Given the description of an element on the screen output the (x, y) to click on. 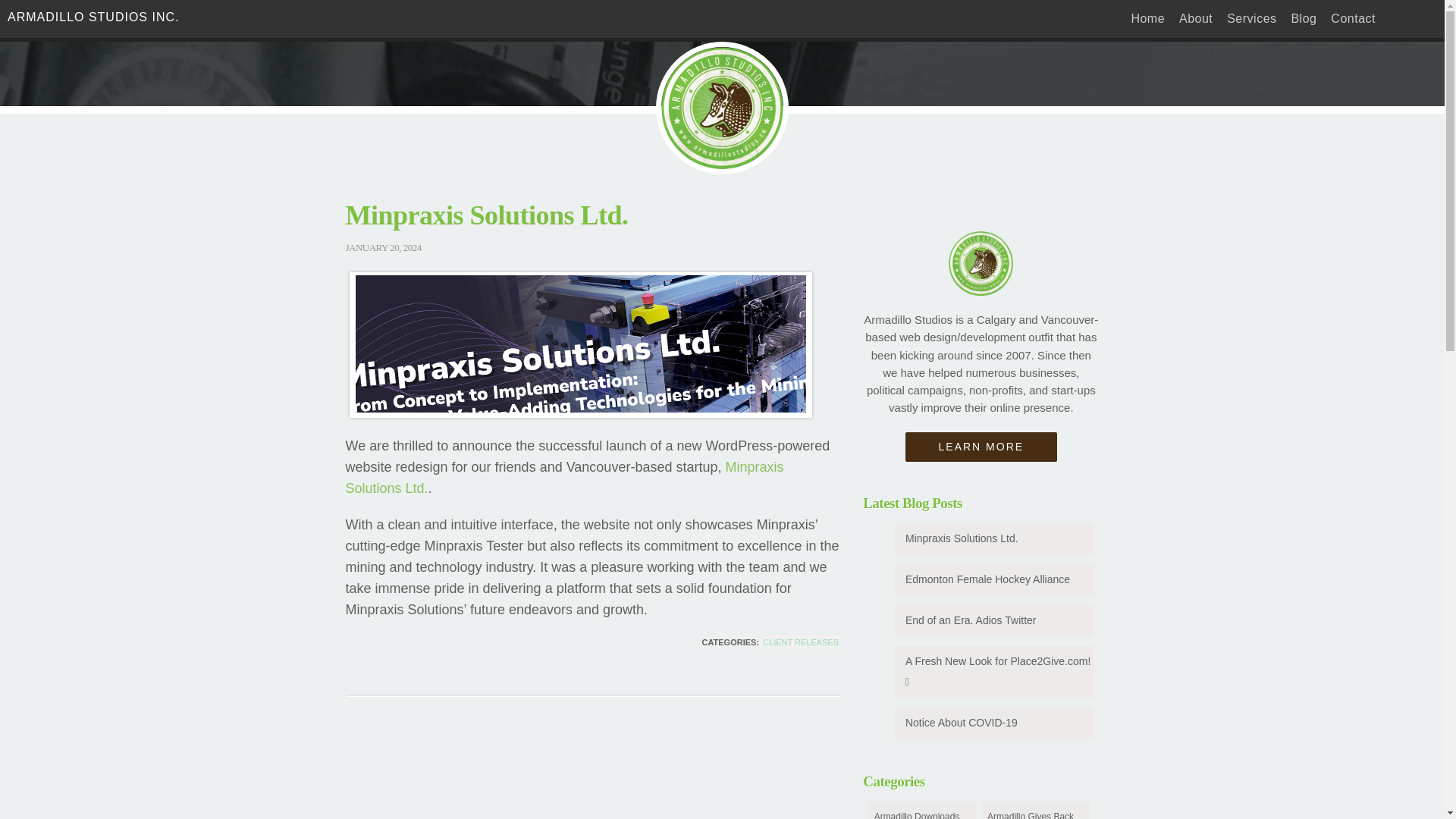
Contact (1352, 18)
CLIENT RELEASES (800, 642)
Blog (1303, 18)
Notice About COVID-19 (994, 723)
Minpraxis Solutions Ltd. (565, 477)
About (1195, 18)
Services (1251, 18)
Minpraxis Solutions Ltd. (994, 539)
End of an Era. Adios Twitter (994, 621)
Home (1147, 18)
ARMADILLO STUDIOS INC. (93, 16)
Edmonton Female Hockey Alliance (994, 580)
LEARN MORE (981, 447)
Armadillo Gives Back (1035, 810)
Armadillo Downloads (921, 810)
